Given the description of an element on the screen output the (x, y) to click on. 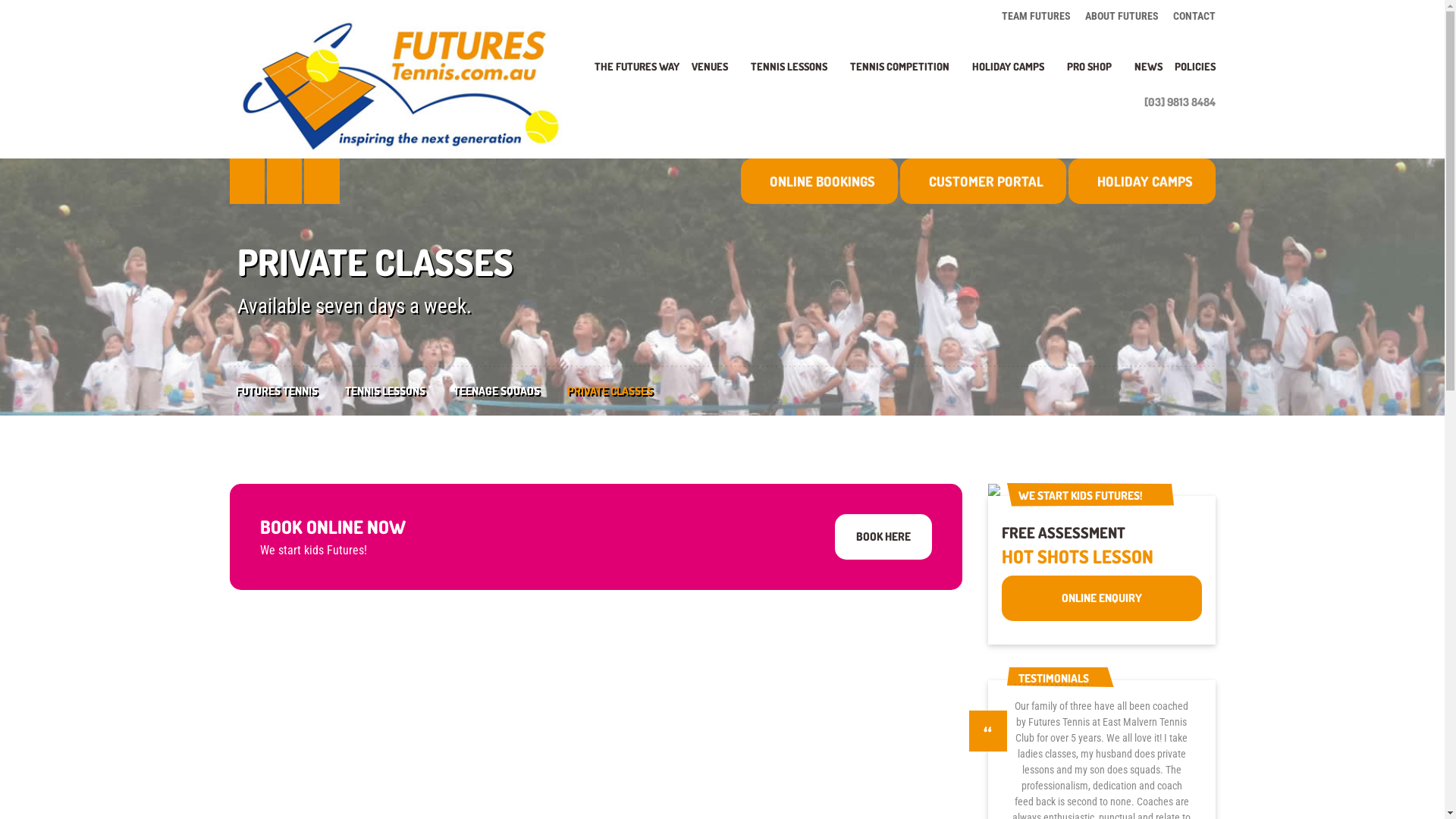
POLICIES Element type: text (1190, 74)
TENNIS COMPETITION Element type: text (905, 74)
PRO SHOP Element type: text (1094, 74)
TEAM FUTURES Element type: text (1038, 15)
THE FUTURES WAY Element type: text (636, 74)
TEENAGE SQUADS Element type: text (510, 390)
HOLIDAY CAMPS Element type: text (1141, 180)
ONLINE ENQUIRY Element type: text (1101, 598)
TENNIS LESSONS Element type: text (399, 390)
BOOK HERE Element type: text (882, 537)
ABOUT FUTURES Element type: text (1121, 15)
TENNIS LESSONS Element type: text (794, 74)
HOLIDAY CAMPS Element type: text (1013, 74)
ONLINE BOOKINGS Element type: text (818, 180)
FUTURES TENNIS Element type: text (290, 390)
VENUES Element type: text (714, 74)
CONTACT Element type: text (1191, 15)
NEWS Element type: text (1148, 74)
CUSTOMER PORTAL Element type: text (983, 180)
[03] 9813 8484 Element type: text (1175, 101)
